Given the description of an element on the screen output the (x, y) to click on. 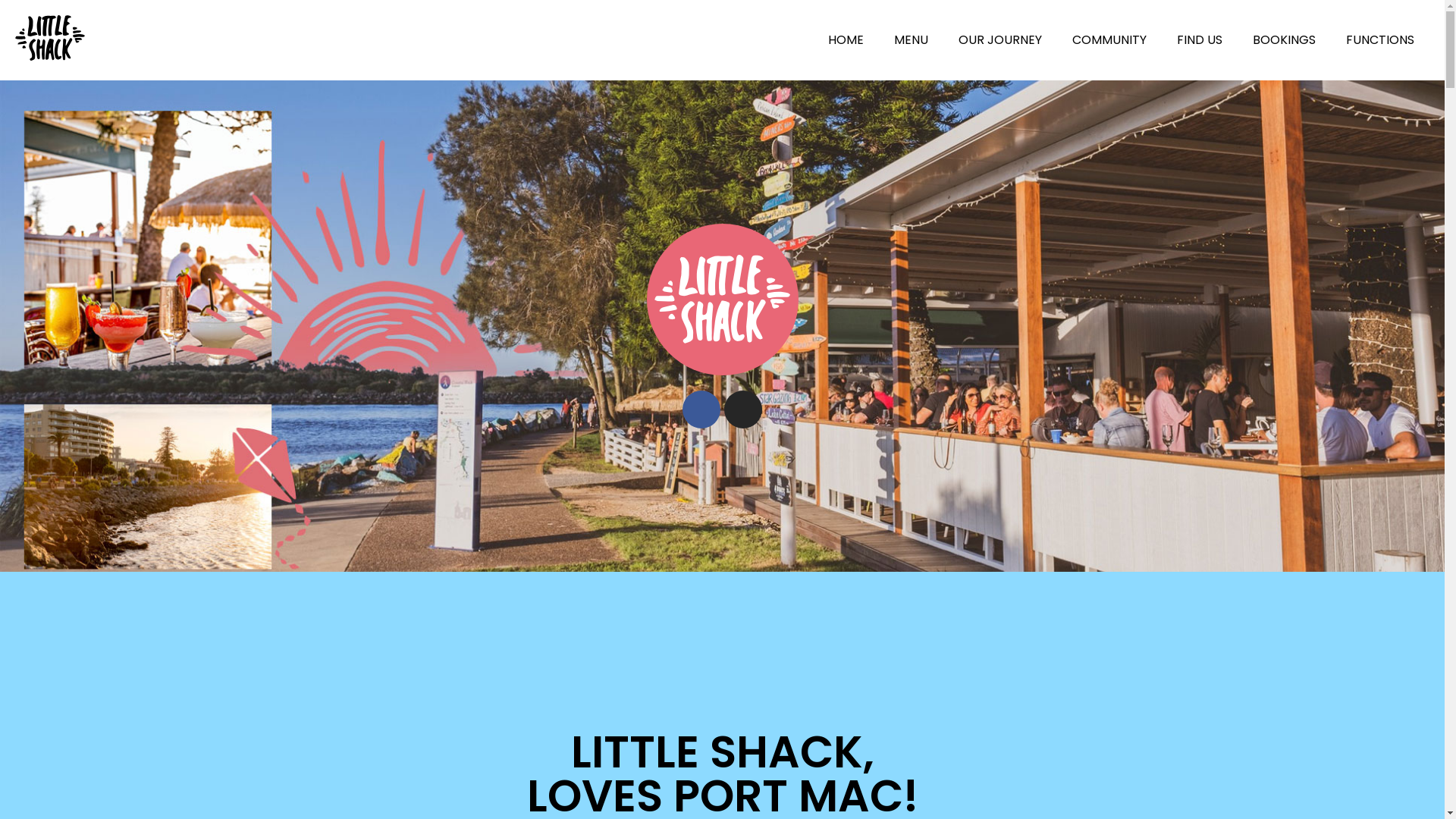
OUR JOURNEY Element type: text (1000, 40)
HOME Element type: text (845, 40)
COMMUNITY Element type: text (1109, 40)
BOOKINGS Element type: text (1283, 40)
MENU Element type: text (910, 40)
FUNCTIONS Element type: text (1379, 40)
FIND US Element type: text (1199, 40)
